Given the description of an element on the screen output the (x, y) to click on. 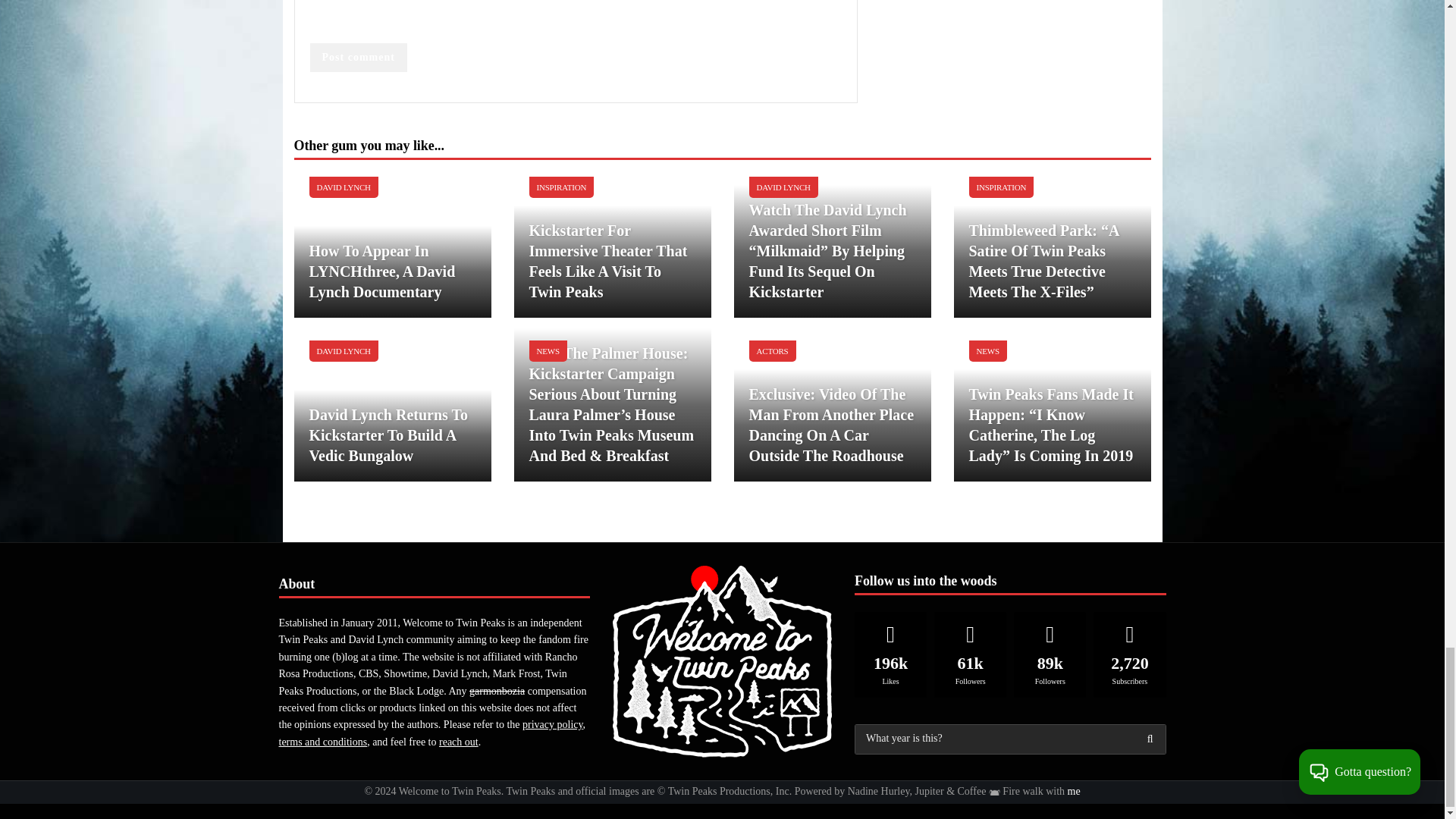
Post comment (357, 57)
